Given the description of an element on the screen output the (x, y) to click on. 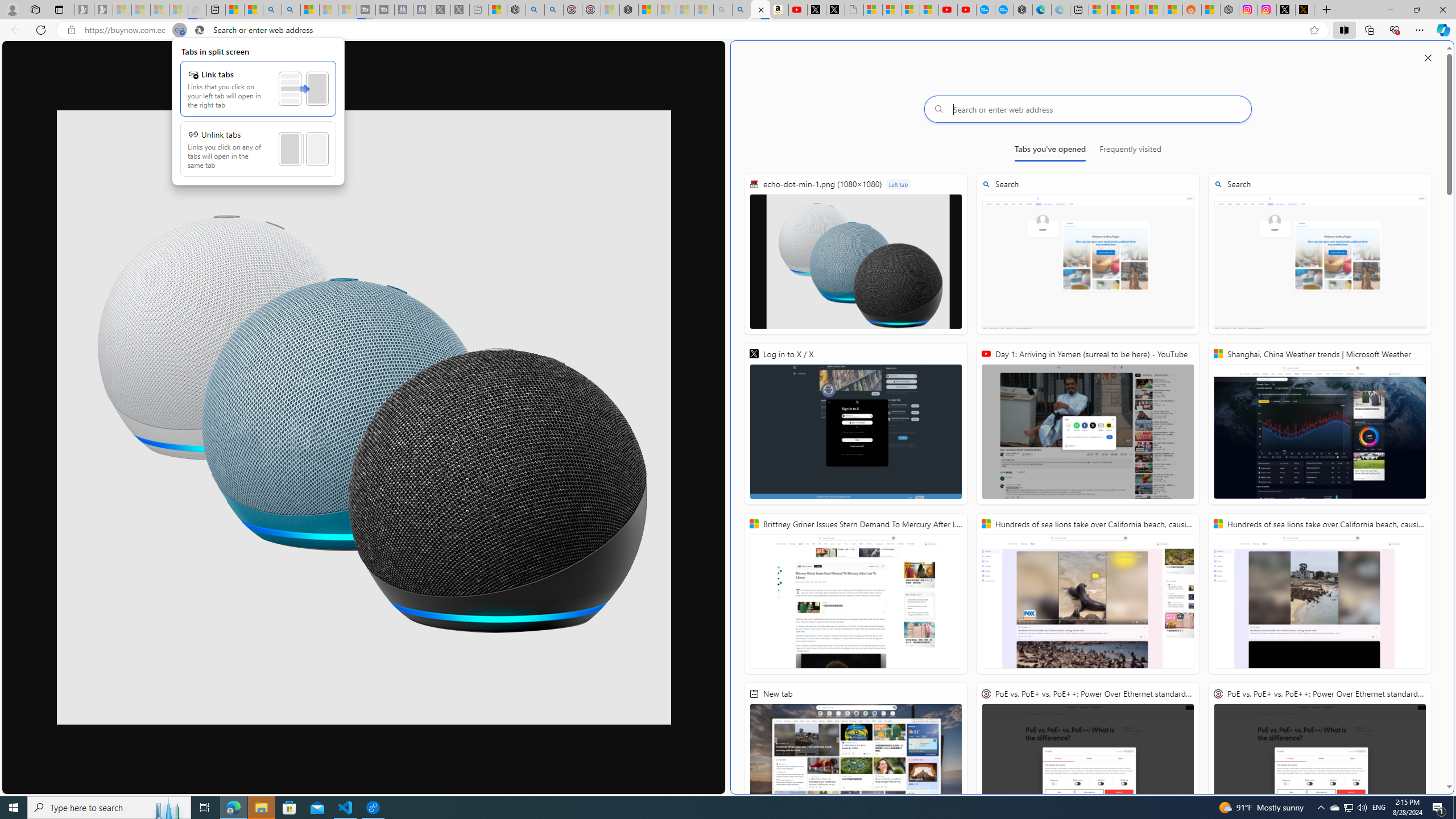
Close split screen (1428, 57)
Newsletter Sign Up - Sleeping (102, 9)
help.x.com | 524: A timeout occurred (1304, 9)
Frequently visited (1130, 151)
Class: MenuScrollViewContainer (258, 117)
Class: SplitWindowMenuLinkPanelView (257, 111)
